Given the description of an element on the screen output the (x, y) to click on. 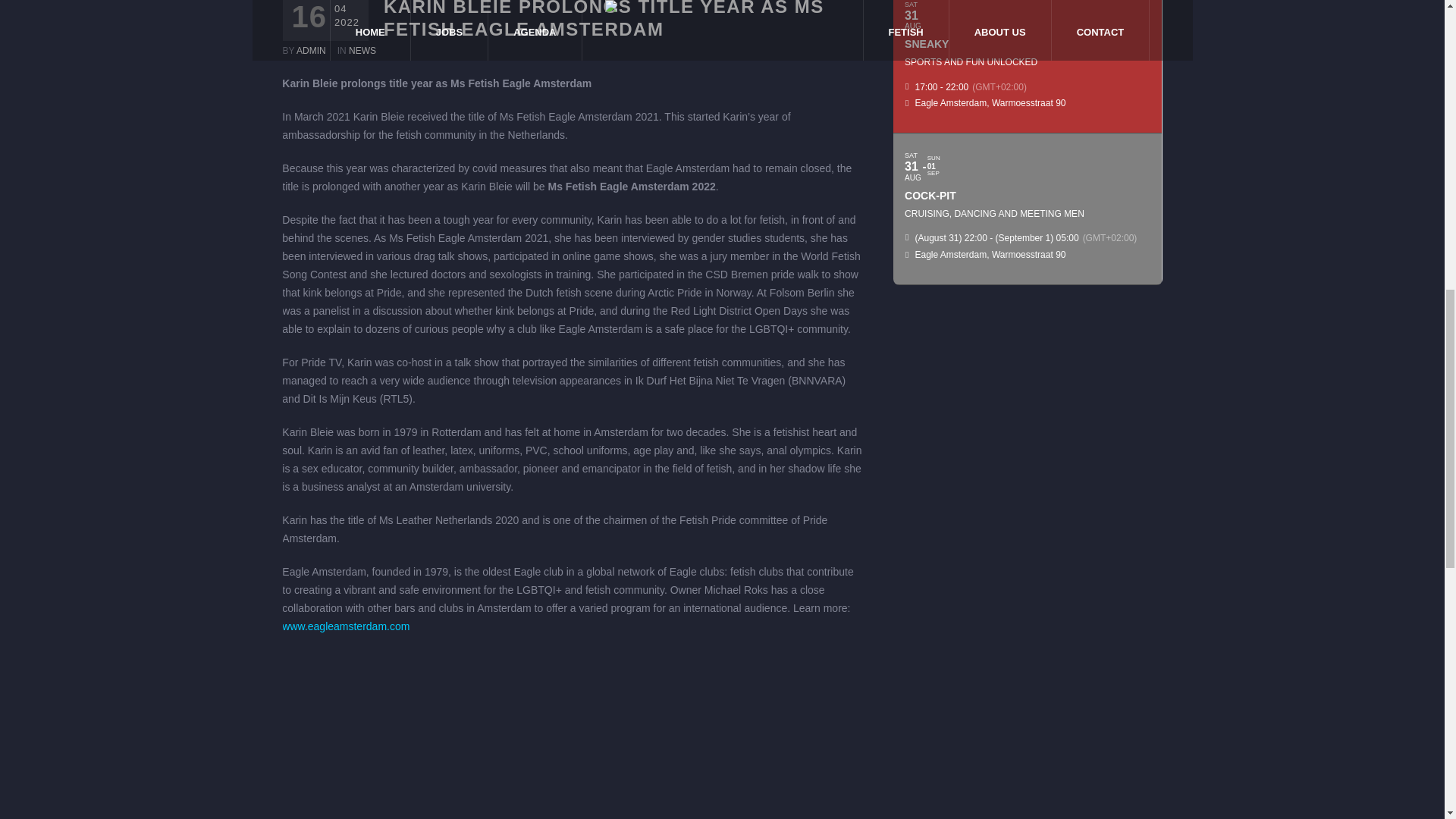
April 16, 2022 (324, 17)
ADMIN (311, 50)
NEWS (362, 50)
Posts by admin (311, 50)
Karin Bleie prolongs title year as Ms Fetish Eagle Amsterdam (572, 734)
